Given the description of an element on the screen output the (x, y) to click on. 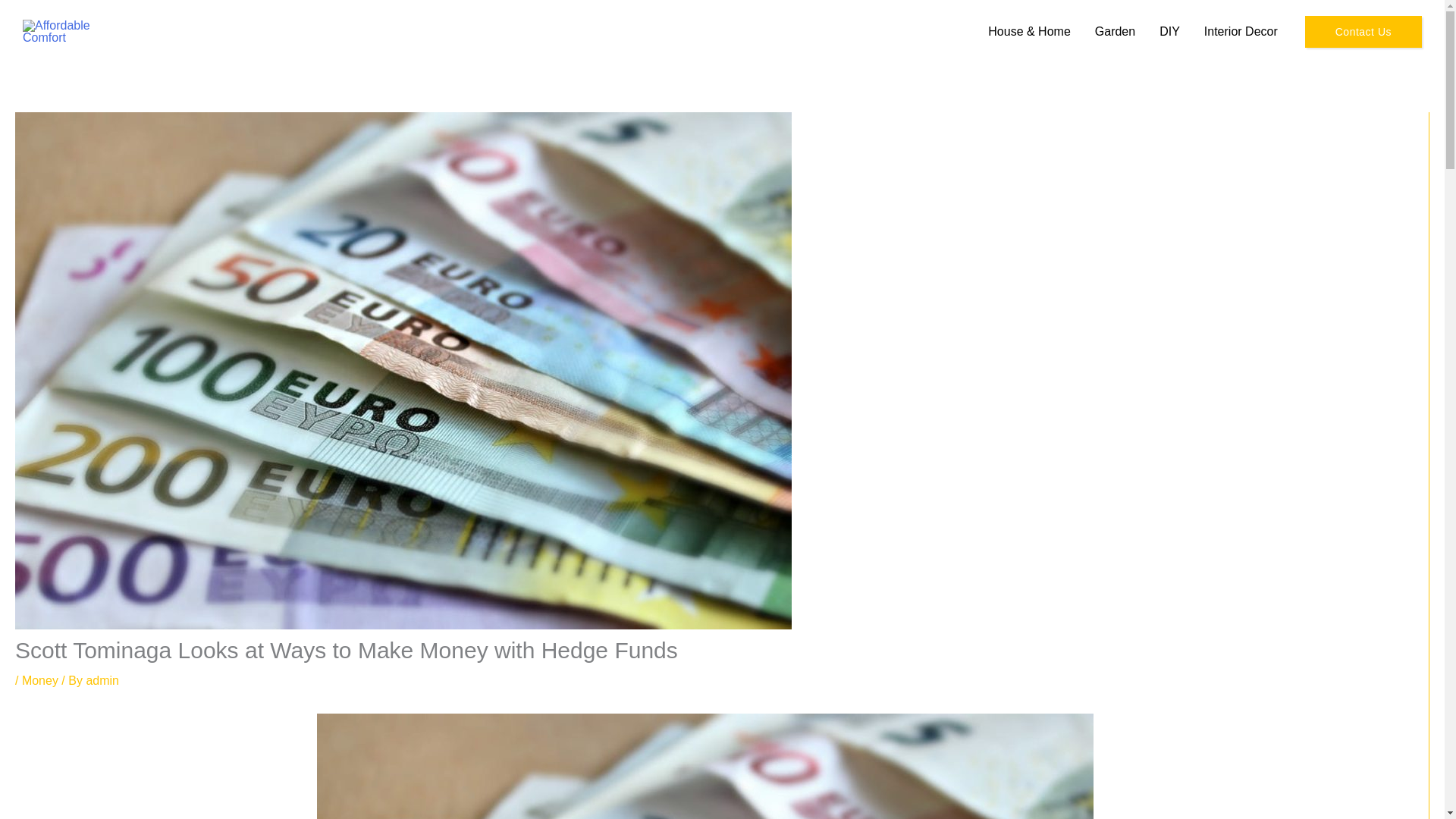
View all posts by admin (102, 680)
Garden (1115, 31)
Interior Decor (1241, 31)
admin (102, 680)
Contact Us (1363, 31)
DIY (1169, 31)
Money (39, 680)
